Given the description of an element on the screen output the (x, y) to click on. 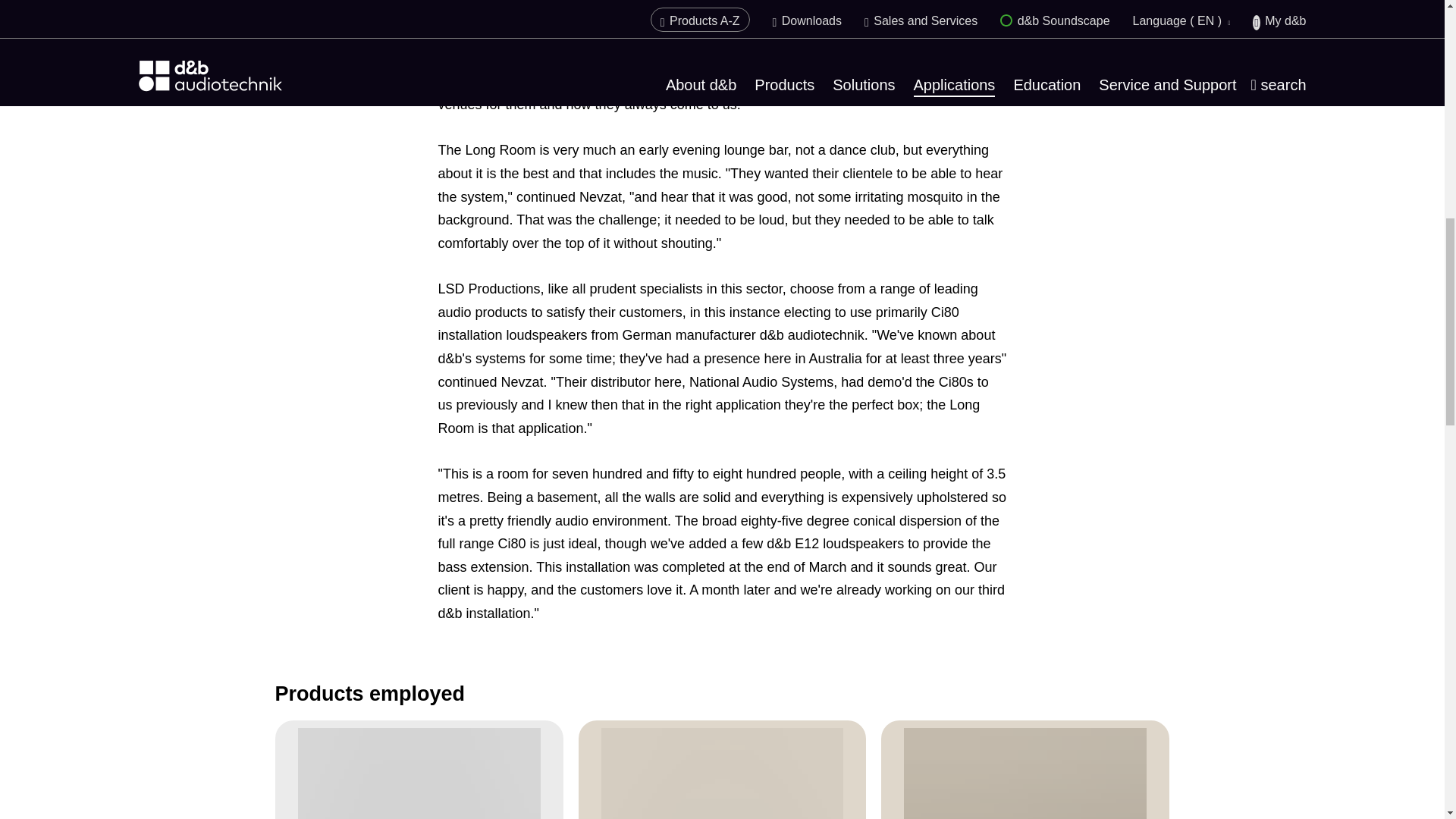
E12 (419, 773)
